Given the description of an element on the screen output the (x, y) to click on. 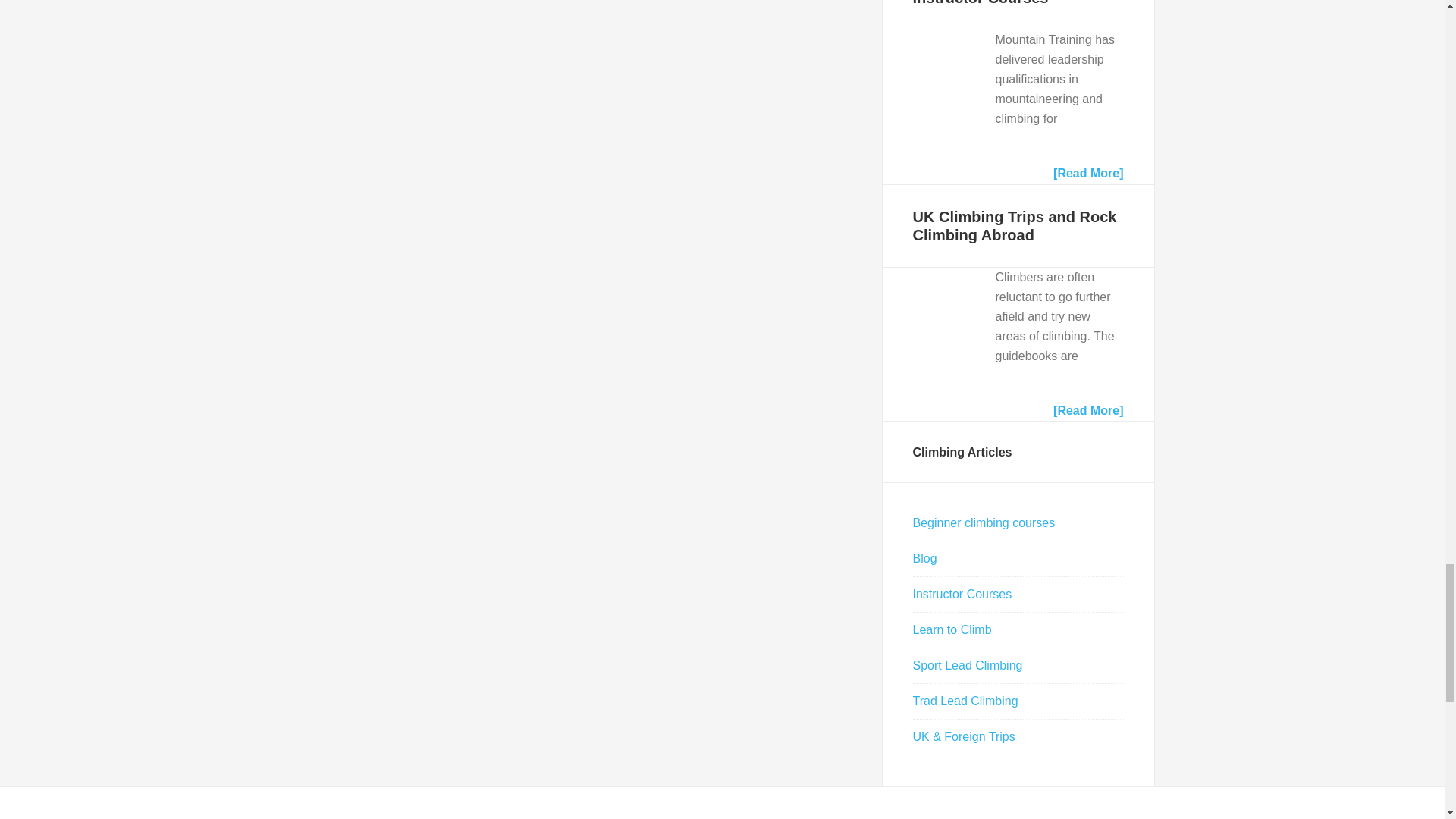
UK Climbing Trips and Rock Climbing Abroad (1014, 225)
Instructor Courses (980, 2)
Instructor Courses (929, 78)
